Given the description of an element on the screen output the (x, y) to click on. 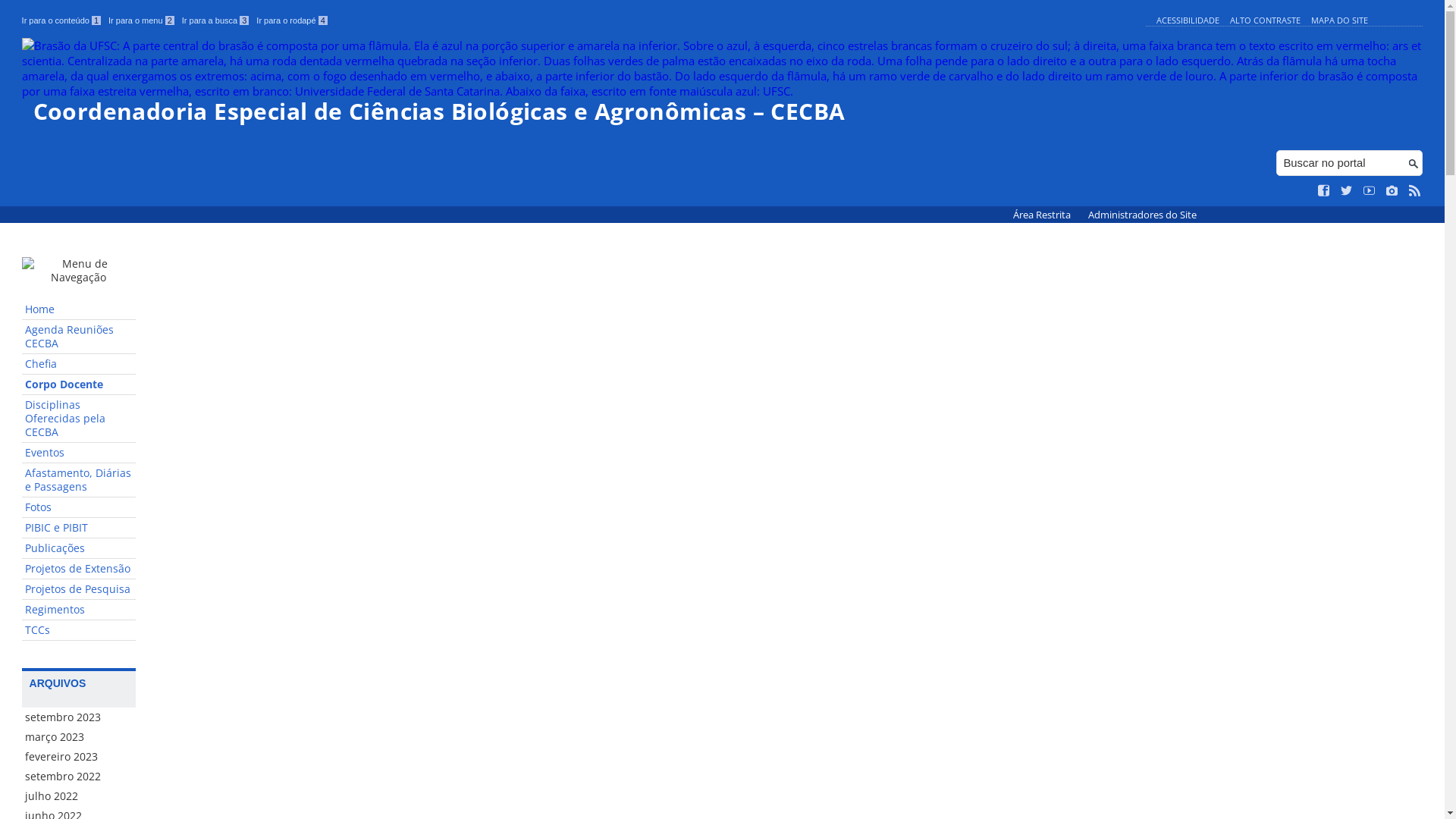
setembro 2022 Element type: text (78, 776)
TCCs Element type: text (78, 630)
Curta no Facebook Element type: hover (1323, 191)
ACESSIBILIDADE Element type: text (1187, 19)
Administradores do Site Element type: text (1141, 214)
setembro 2023 Element type: text (78, 717)
Veja no Instagram Element type: hover (1392, 191)
Ir para o menu 2 Element type: text (141, 20)
Chefia Element type: text (78, 364)
Eventos Element type: text (78, 452)
ALTO CONTRASTE Element type: text (1265, 19)
Projetos de Pesquisa Element type: text (78, 589)
Home Element type: text (78, 309)
Corpo Docente Element type: text (78, 384)
Regimentos Element type: text (78, 609)
Siga no Twitter Element type: hover (1346, 191)
fevereiro 2023 Element type: text (78, 756)
PIBIC e PIBIT Element type: text (78, 527)
Disciplinas Oferecidas pela CECBA Element type: text (78, 418)
Fotos Element type: text (78, 507)
MAPA DO SITE Element type: text (1339, 19)
Ir para a busca 3 Element type: text (215, 20)
julho 2022 Element type: text (78, 796)
